Given the description of an element on the screen output the (x, y) to click on. 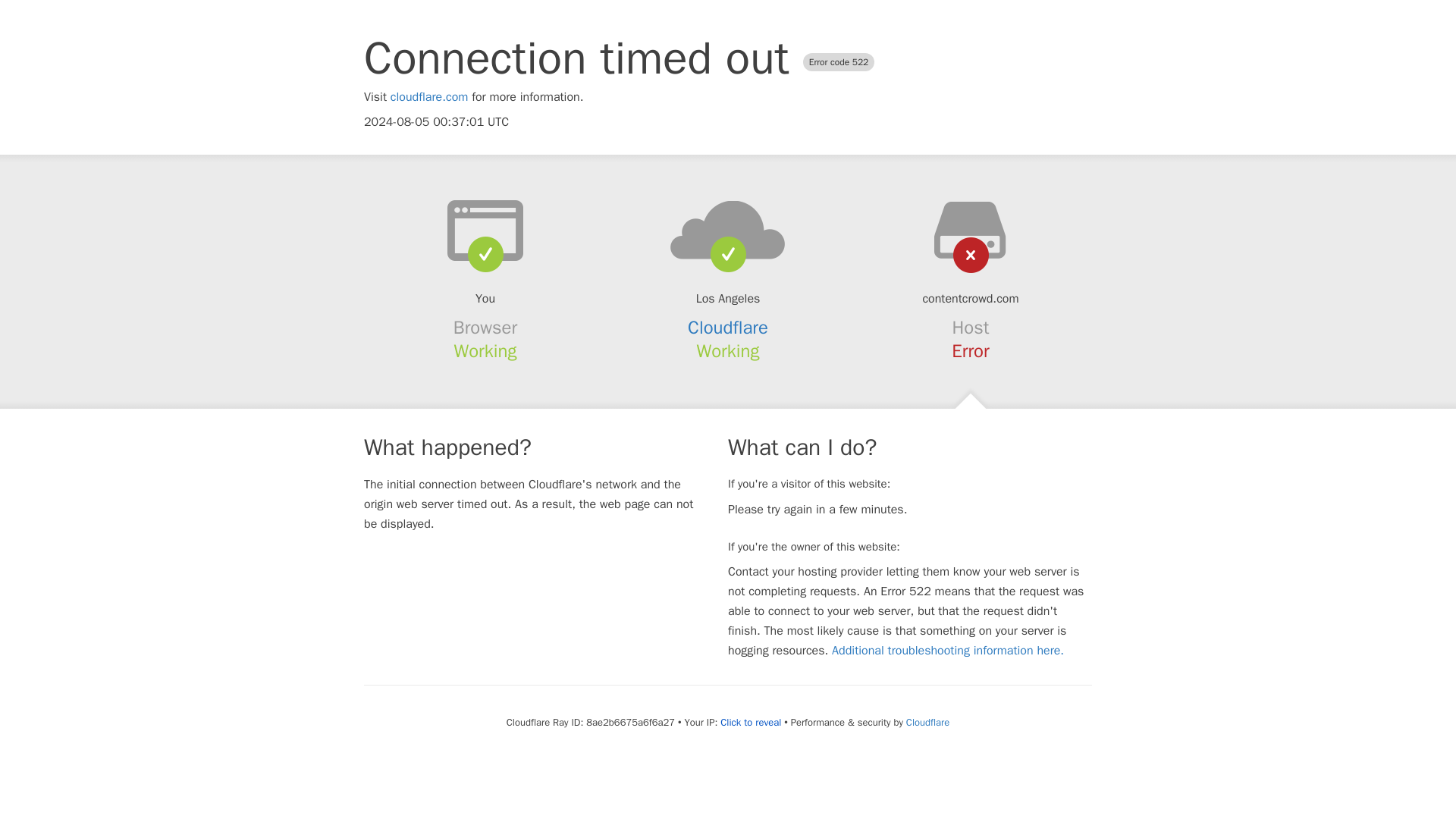
Cloudflare (727, 327)
Cloudflare (927, 721)
cloudflare.com (429, 96)
Additional troubleshooting information here. (947, 650)
Click to reveal (750, 722)
